Given the description of an element on the screen output the (x, y) to click on. 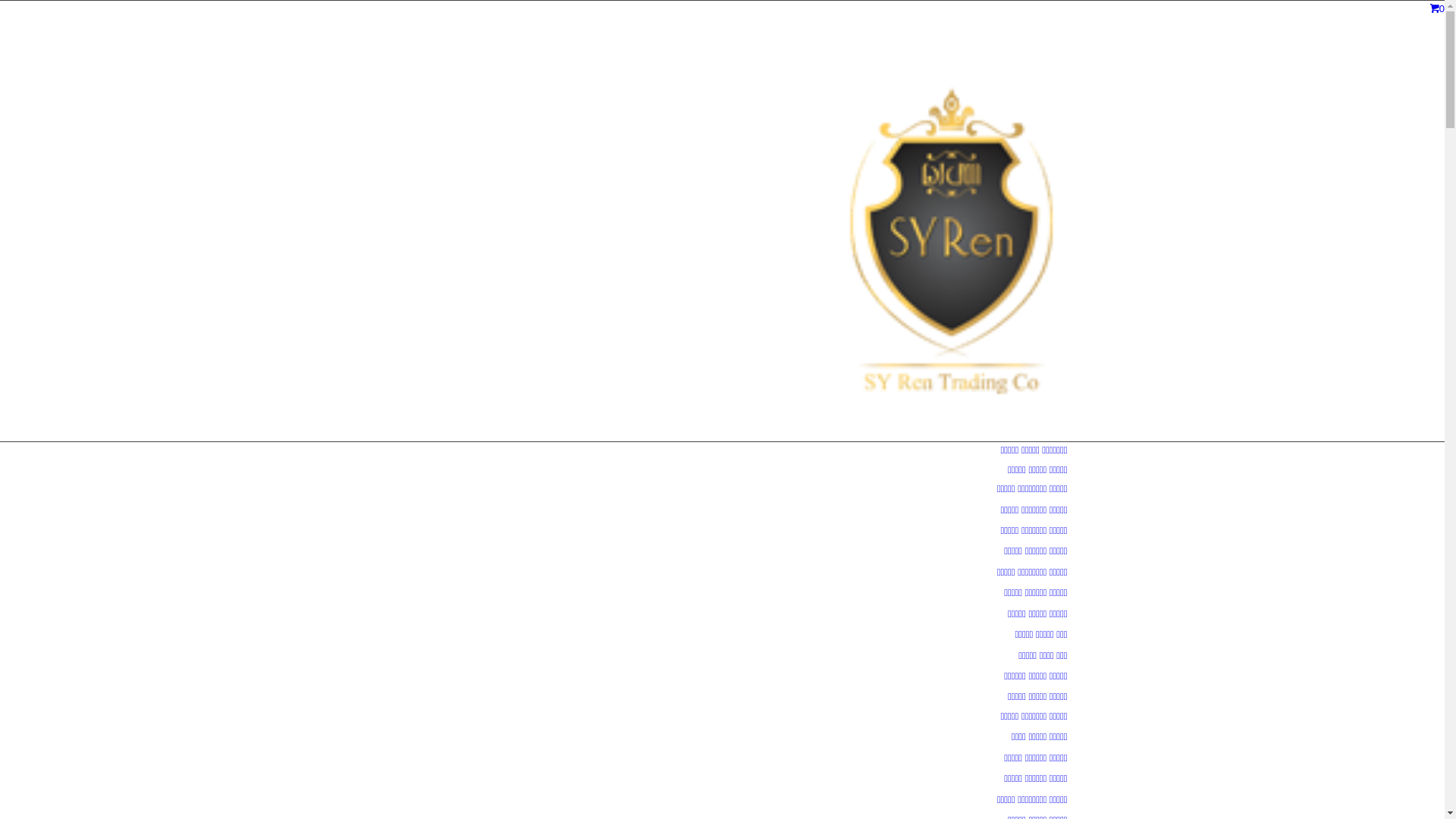
0 Element type: text (1437, 8)
4545 Element type: hover (953, 433)
4545 Element type: hover (953, 233)
